Given the description of an element on the screen output the (x, y) to click on. 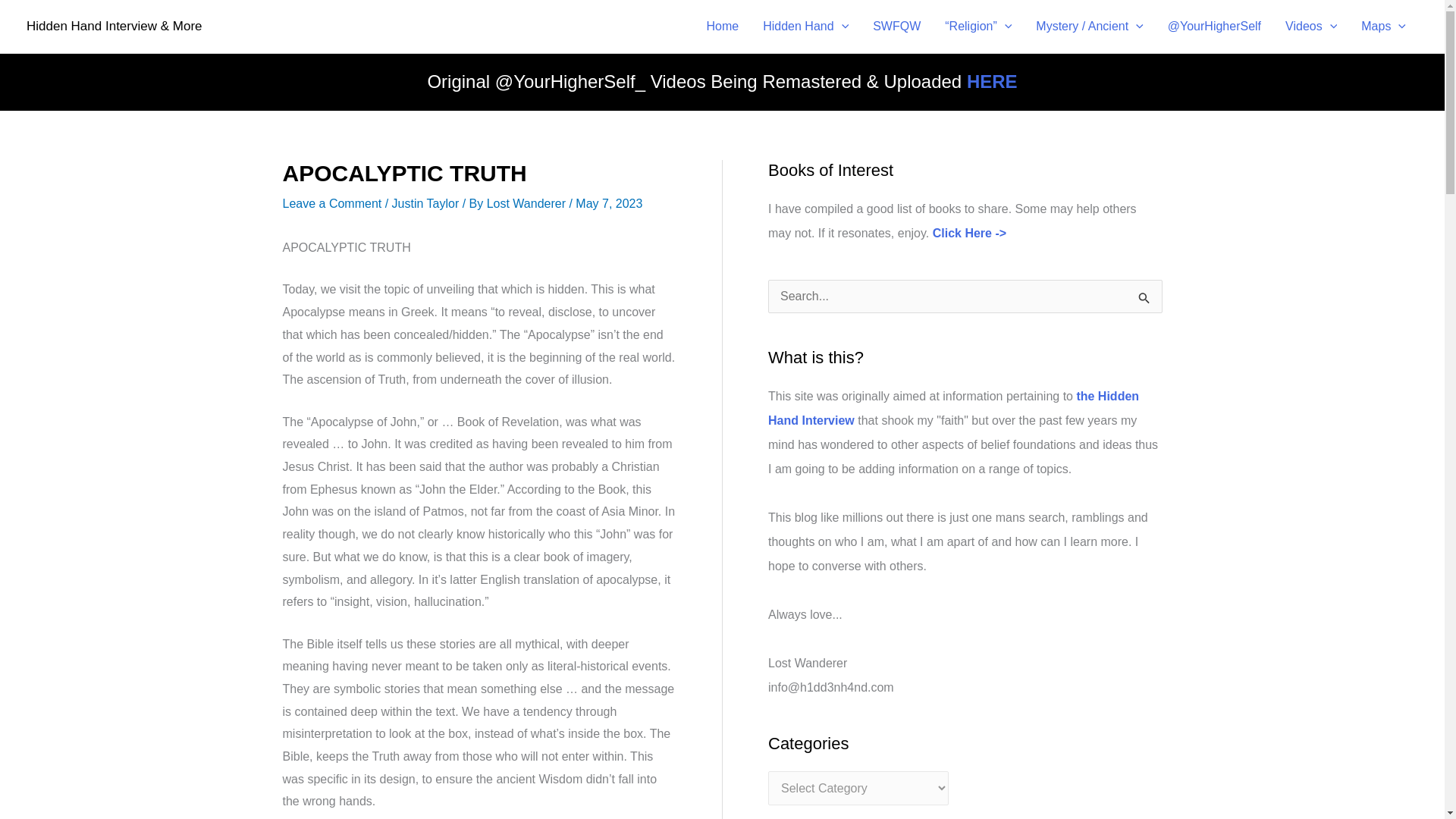
Maps (1383, 26)
New Youtube YourHigherSelf (991, 81)
View all posts by Lost Wanderer (527, 203)
SWFQW (896, 26)
Home (722, 26)
Videos (1310, 26)
Hidden Hand (805, 26)
HERE (991, 81)
